Given the description of an element on the screen output the (x, y) to click on. 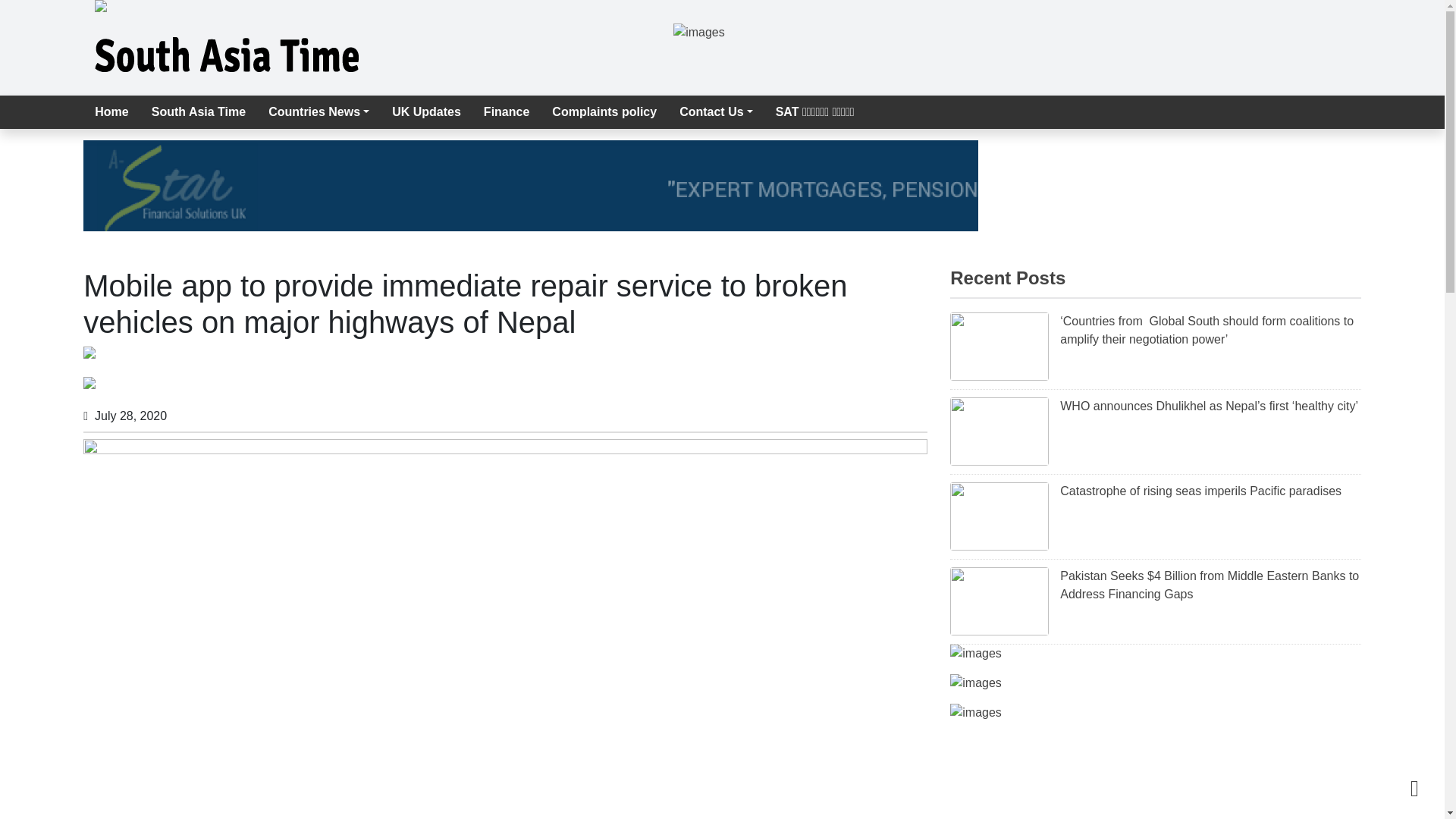
Countries News (318, 111)
Countries News (318, 111)
UK Updates (425, 111)
Home (110, 111)
Home (110, 111)
Finance (505, 111)
Complaints policy (604, 111)
South Asia Time (198, 111)
South Asia Time (198, 111)
Contact Us (716, 111)
